Given the description of an element on the screen output the (x, y) to click on. 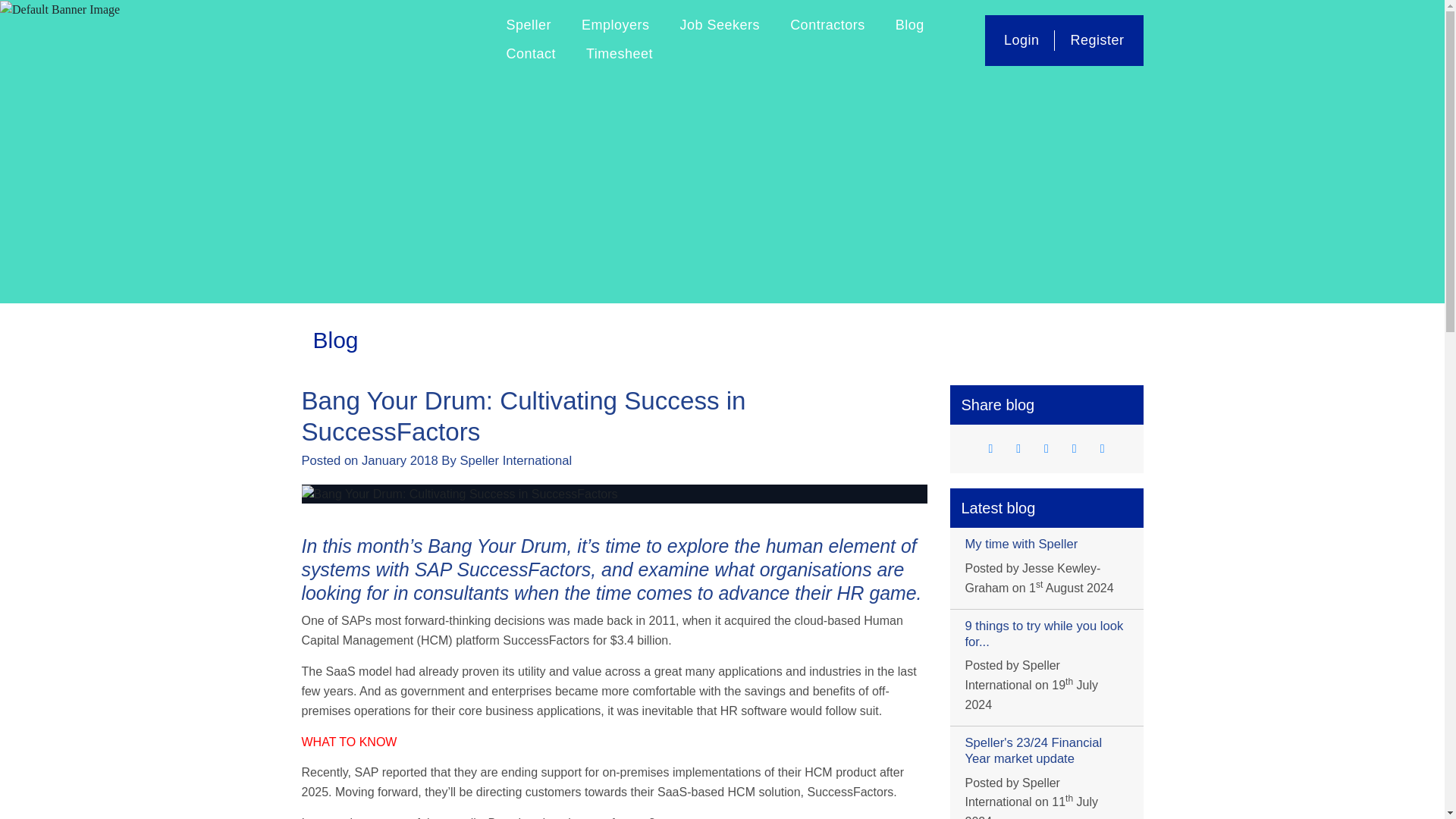
Timesheet (619, 54)
Go to the Homepage (396, 39)
Contractors (827, 25)
Speller (529, 25)
Blog (909, 25)
Speller International (396, 39)
Share on Facebook (1018, 448)
Share on LinkedIn (1045, 448)
Email this (1074, 448)
Job Seekers (720, 25)
Employers (615, 25)
send on Whatsapp (1102, 448)
Tweet this (990, 448)
Register (1095, 40)
Login (1021, 40)
